Given the description of an element on the screen output the (x, y) to click on. 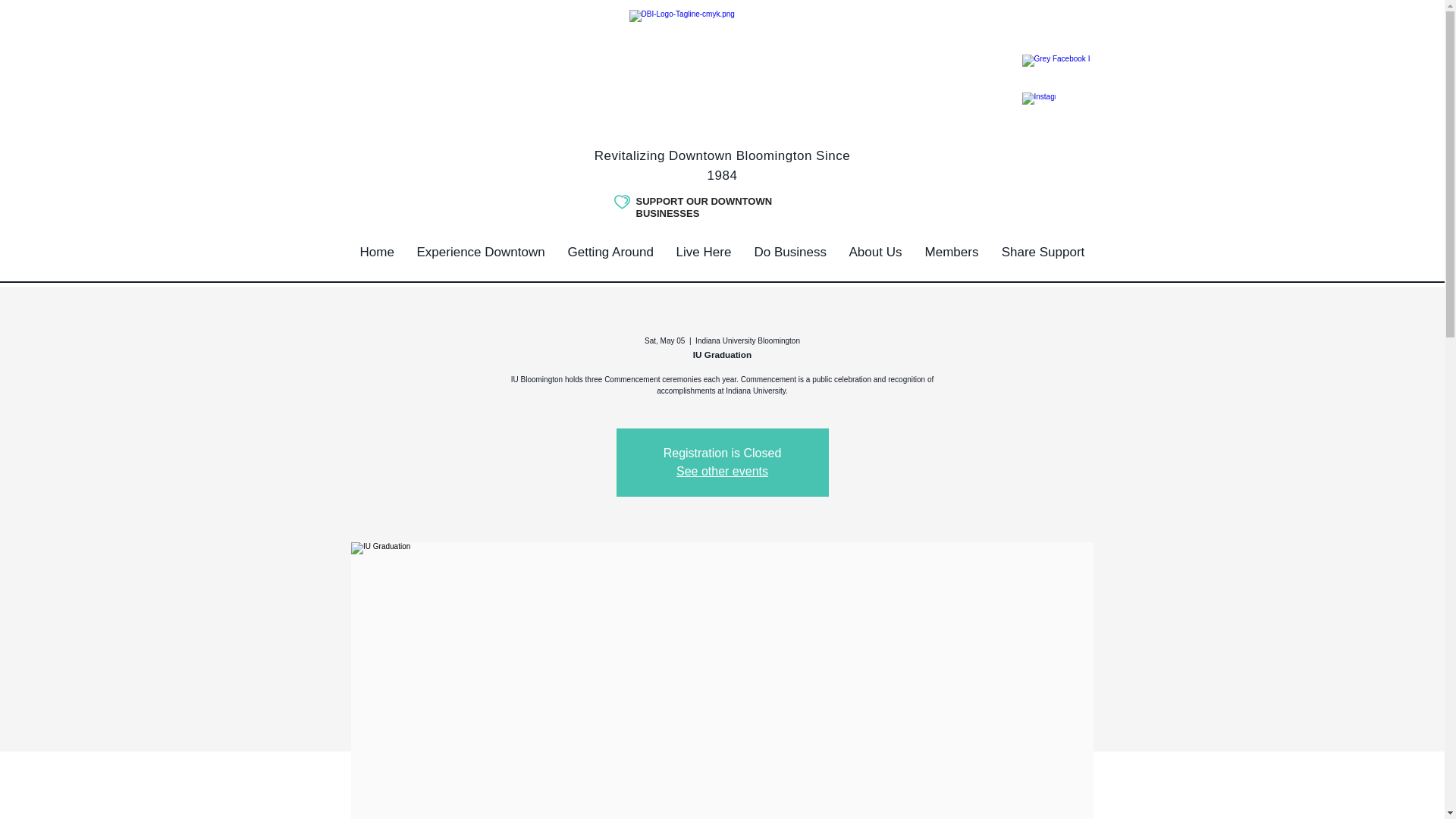
Home (377, 252)
Getting Around (610, 252)
See other events (722, 471)
Do Business (790, 252)
Live Here (702, 252)
About Us (874, 252)
Experience Downtown (480, 252)
